Given the description of an element on the screen output the (x, y) to click on. 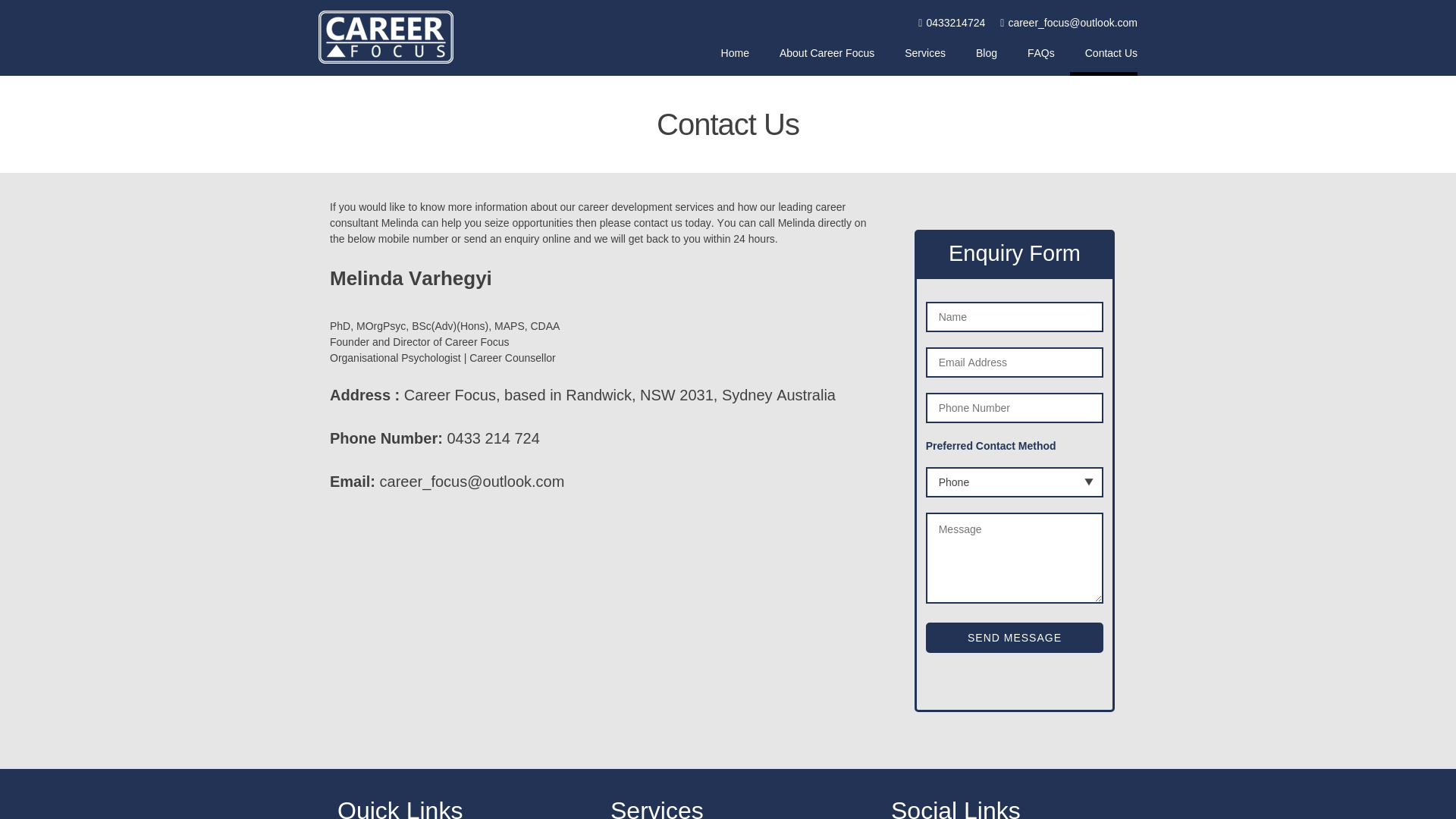
Send Message Element type: text (1014, 637)
0433214724 Element type: text (951, 22)
Contact Us Element type: text (1103, 60)
career_focus@outlook.com Element type: text (1068, 22)
FAQs Element type: text (1041, 60)
About Career Focus Element type: text (826, 60)
Services Element type: text (924, 60)
Blog Element type: text (986, 60)
Home Element type: text (735, 60)
